Given the description of an element on the screen output the (x, y) to click on. 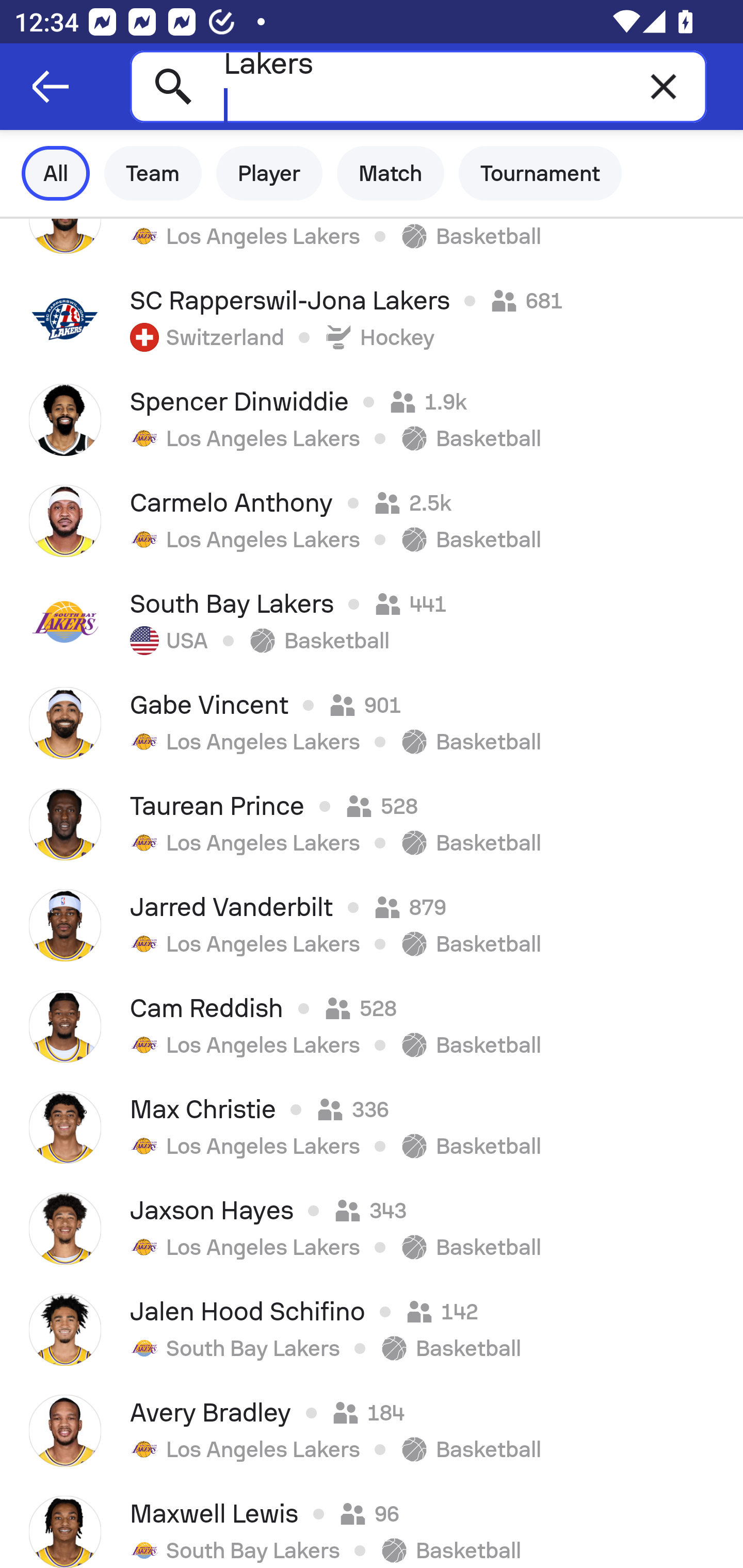
Navigate up (50, 86)
Lakers
 (418, 86)
Clear text (663, 86)
All (55, 172)
Team (152, 172)
Player (268, 172)
Match (390, 172)
Tournament (540, 172)
SC Rapperswil-Jona Lakers 681 Switzerland Hockey (371, 319)
Carmelo Anthony 2.5k Los Angeles Lakers Basketball (371, 520)
South Bay Lakers 441 USA Basketball (371, 621)
Gabe Vincent 901 Los Angeles Lakers Basketball (371, 722)
Taurean Prince 528 Los Angeles Lakers Basketball (371, 823)
Cam Reddish 528 Los Angeles Lakers Basketball (371, 1026)
Max Christie 336 Los Angeles Lakers Basketball (371, 1127)
Jaxson Hayes 343 Los Angeles Lakers Basketball (371, 1228)
Avery Bradley 184 Los Angeles Lakers Basketball (371, 1430)
Maxwell Lewis 96 South Bay Lakers Basketball (371, 1524)
